Given the description of an element on the screen output the (x, y) to click on. 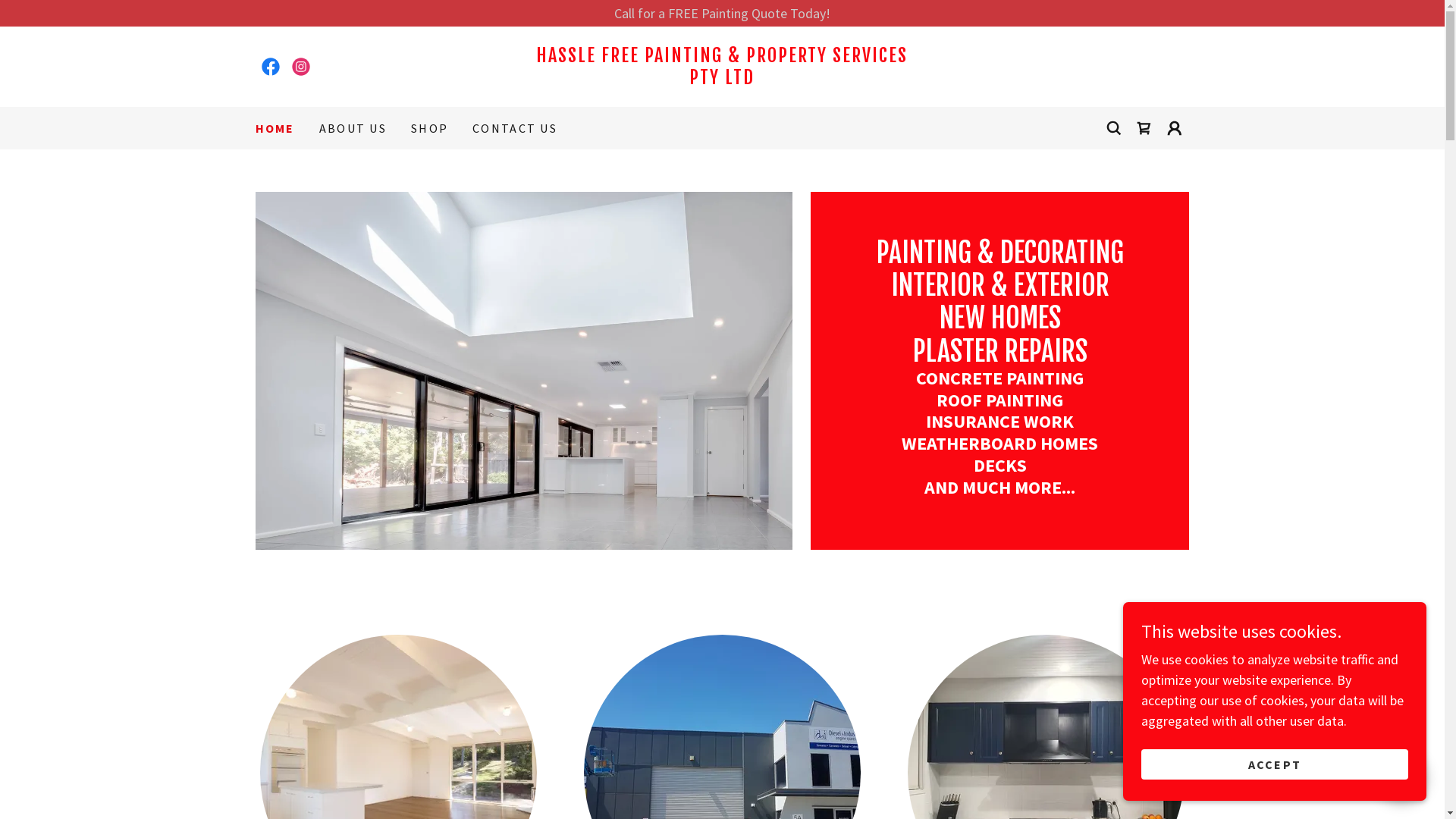
ABOUT US Element type: text (352, 127)
HASSLE FREE PAINTING & PROPERTY SERVICES PTY LTD Element type: text (722, 78)
ACCEPT Element type: text (1274, 764)
CONTACT US Element type: text (514, 127)
Call for a FREE Painting Quote Today! Element type: text (722, 13)
HOME Element type: text (274, 128)
SHOP Element type: text (429, 127)
